Given the description of an element on the screen output the (x, y) to click on. 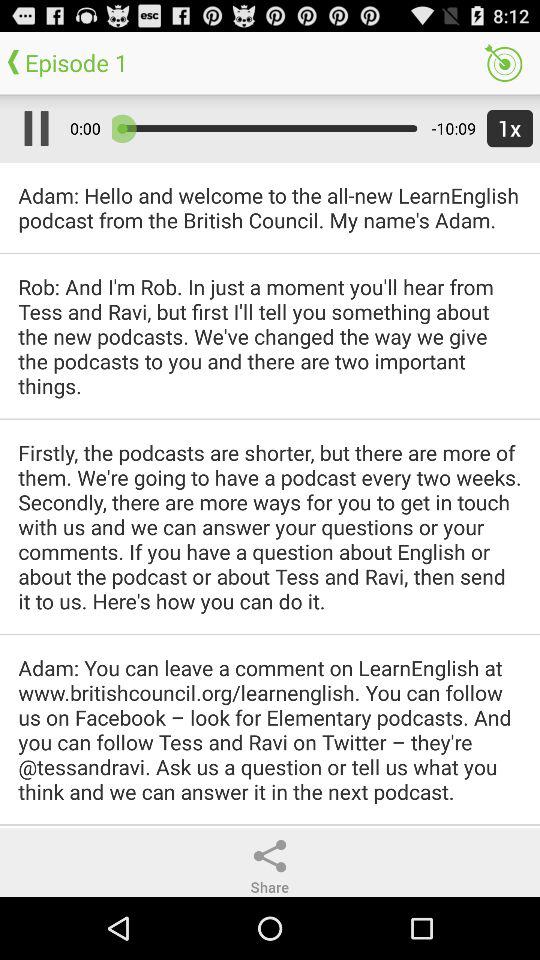
launch the app above the adam you can app (270, 526)
